Given the description of an element on the screen output the (x, y) to click on. 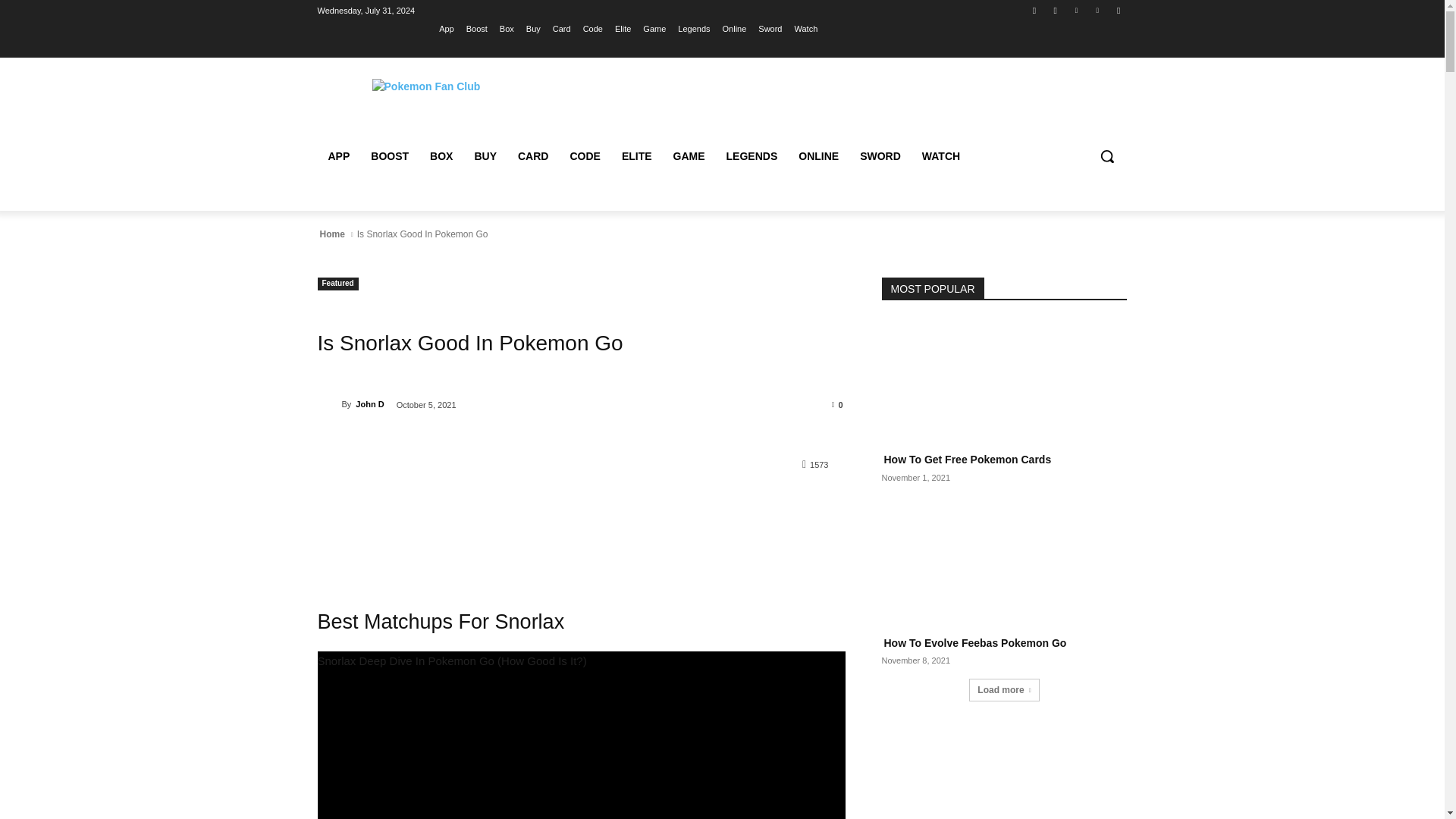
Instagram (1055, 9)
Code (592, 28)
Sword (769, 28)
Boost (476, 28)
Vimeo (1097, 9)
Youtube (1117, 9)
Legends (694, 28)
John D (328, 403)
Pokemon Fan Club (425, 86)
Online (734, 28)
Watch (806, 28)
Twitter (1075, 9)
Facebook (1034, 9)
Game (654, 28)
